Given the description of an element on the screen output the (x, y) to click on. 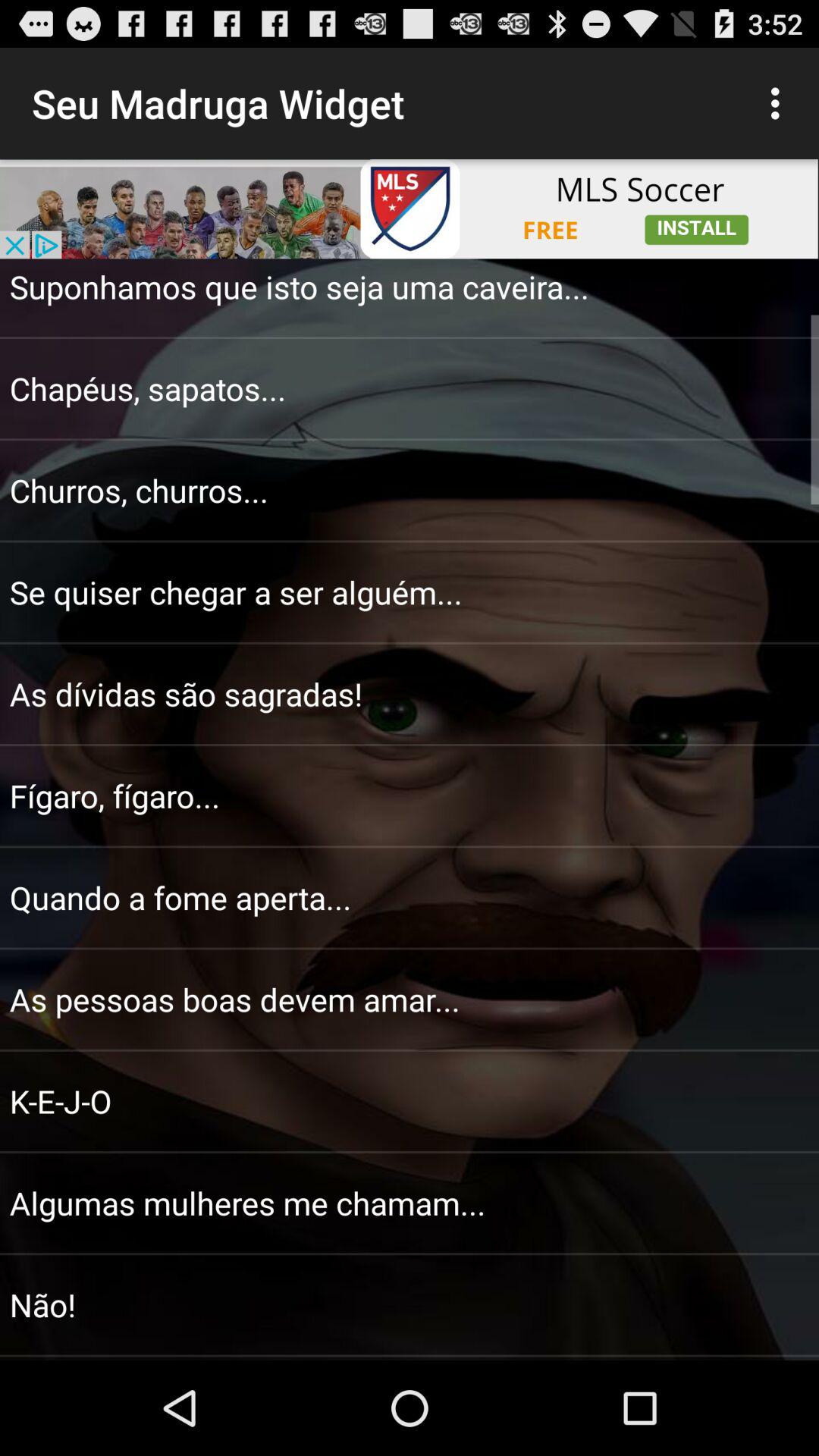
top right corner button (779, 103)
